Given the description of an element on the screen output the (x, y) to click on. 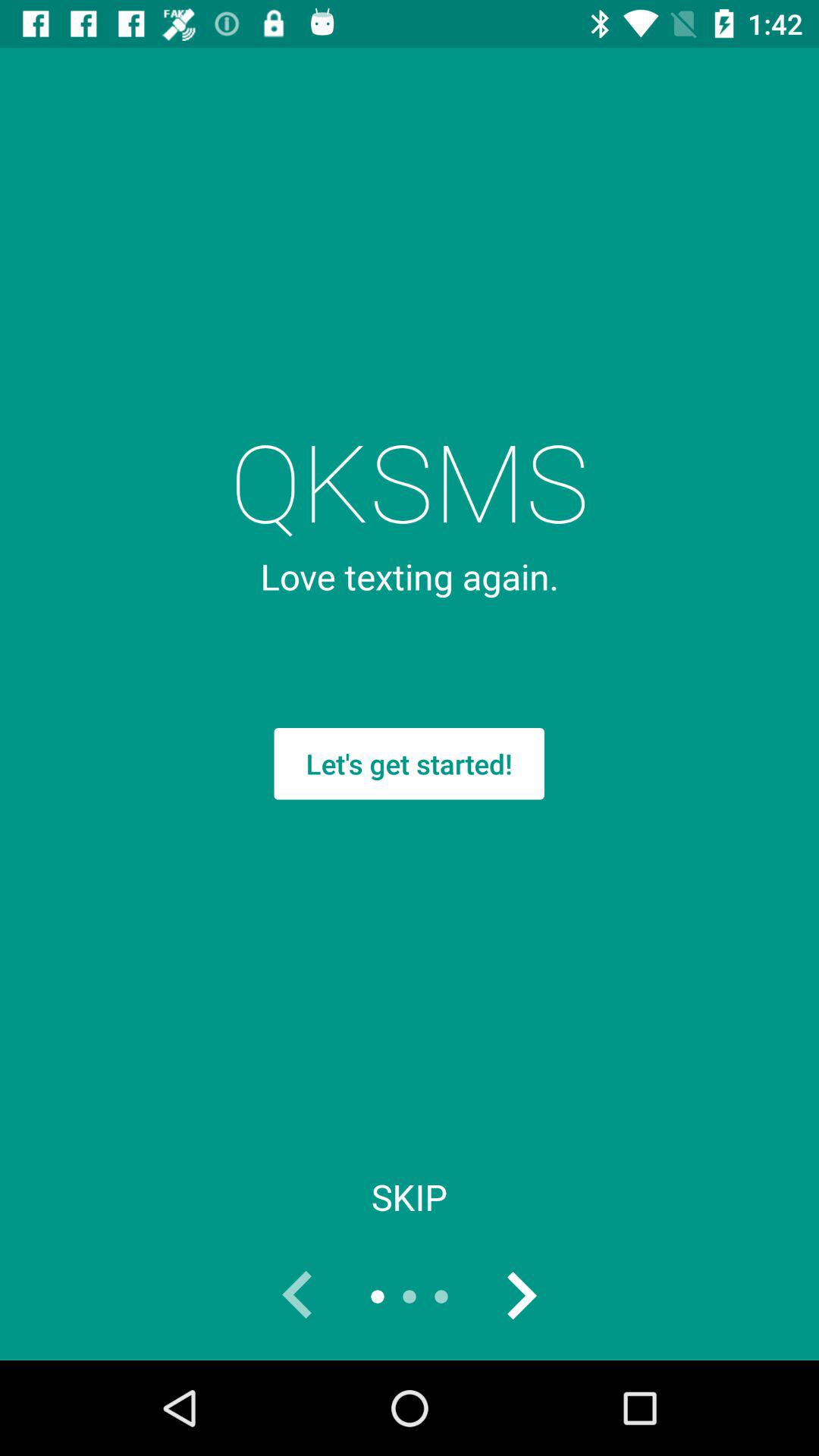
tap the icon below the skip icon (297, 1296)
